Given the description of an element on the screen output the (x, y) to click on. 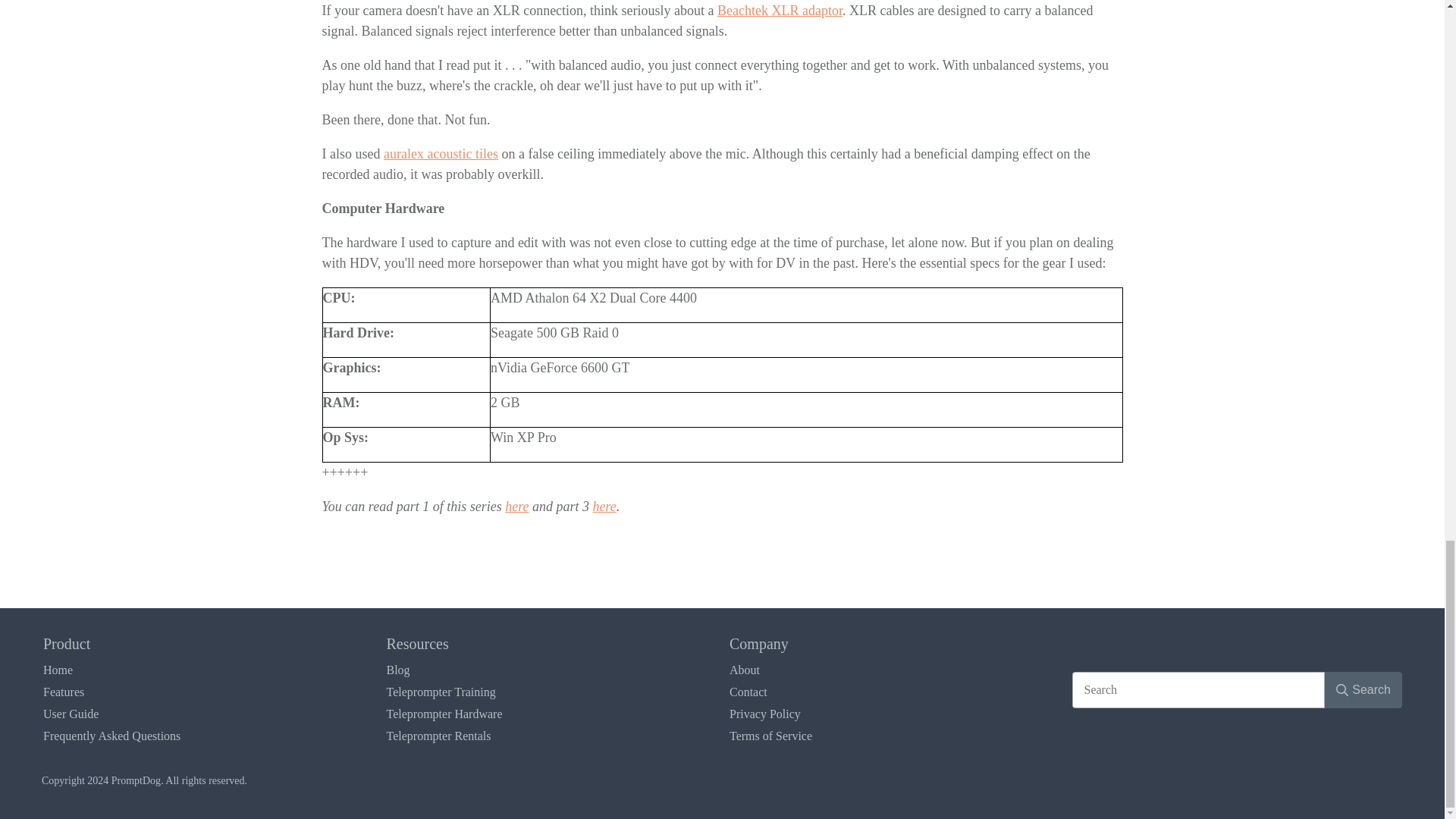
About (744, 669)
here (603, 506)
auralex acoustic tiles (440, 153)
Privacy Policy (764, 713)
Beachtek XLR adaptor (780, 10)
Frequently Asked Questions (111, 735)
Teleprompter Hardware (444, 713)
User Guide (71, 713)
Blog (398, 669)
Teleprompter Training (441, 691)
Teleprompter Rentals (439, 735)
Home (57, 669)
Features (63, 691)
here (516, 506)
Contact (748, 691)
